Given the description of an element on the screen output the (x, y) to click on. 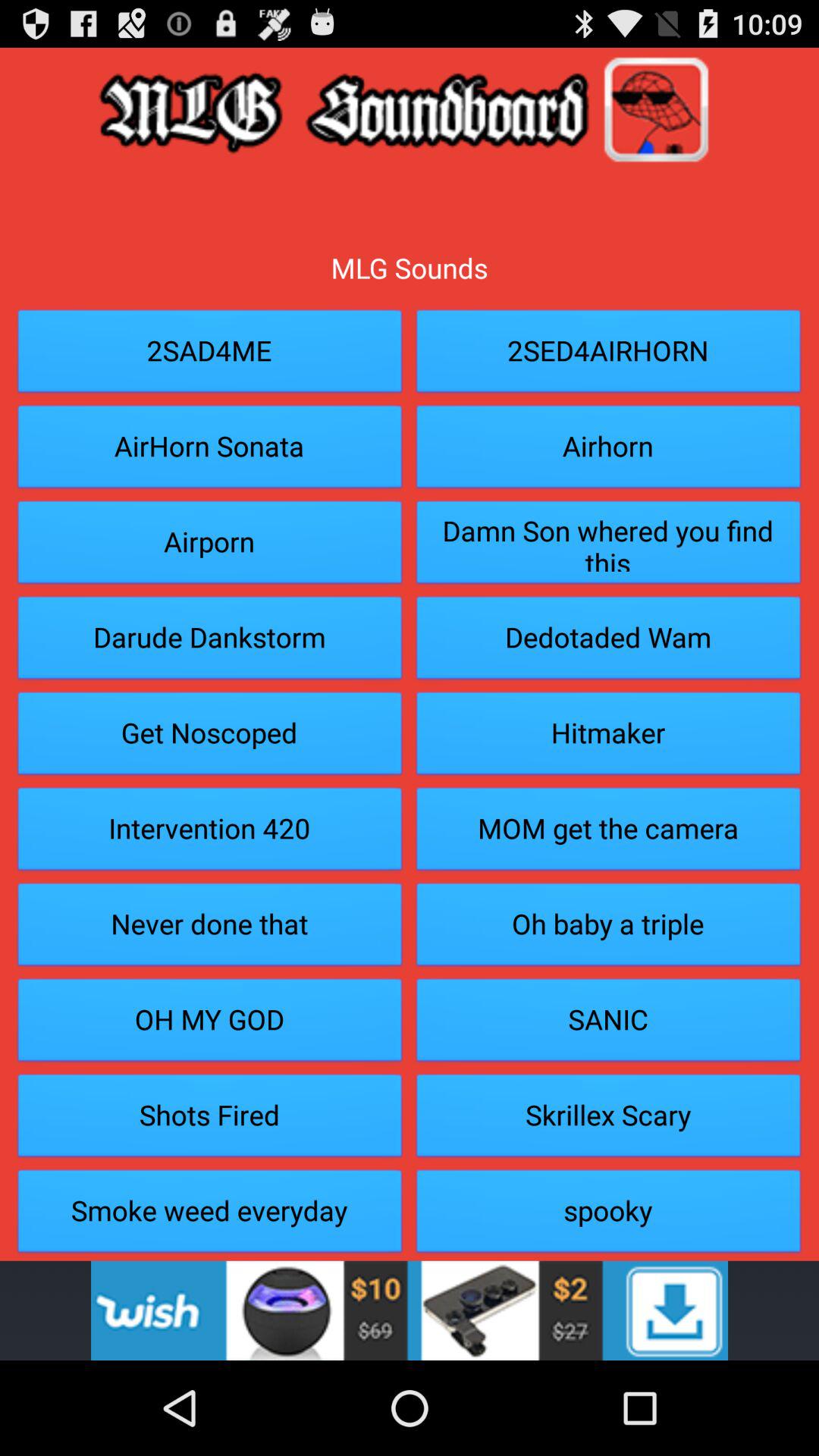
go to advertisement (409, 1310)
